Given the description of an element on the screen output the (x, y) to click on. 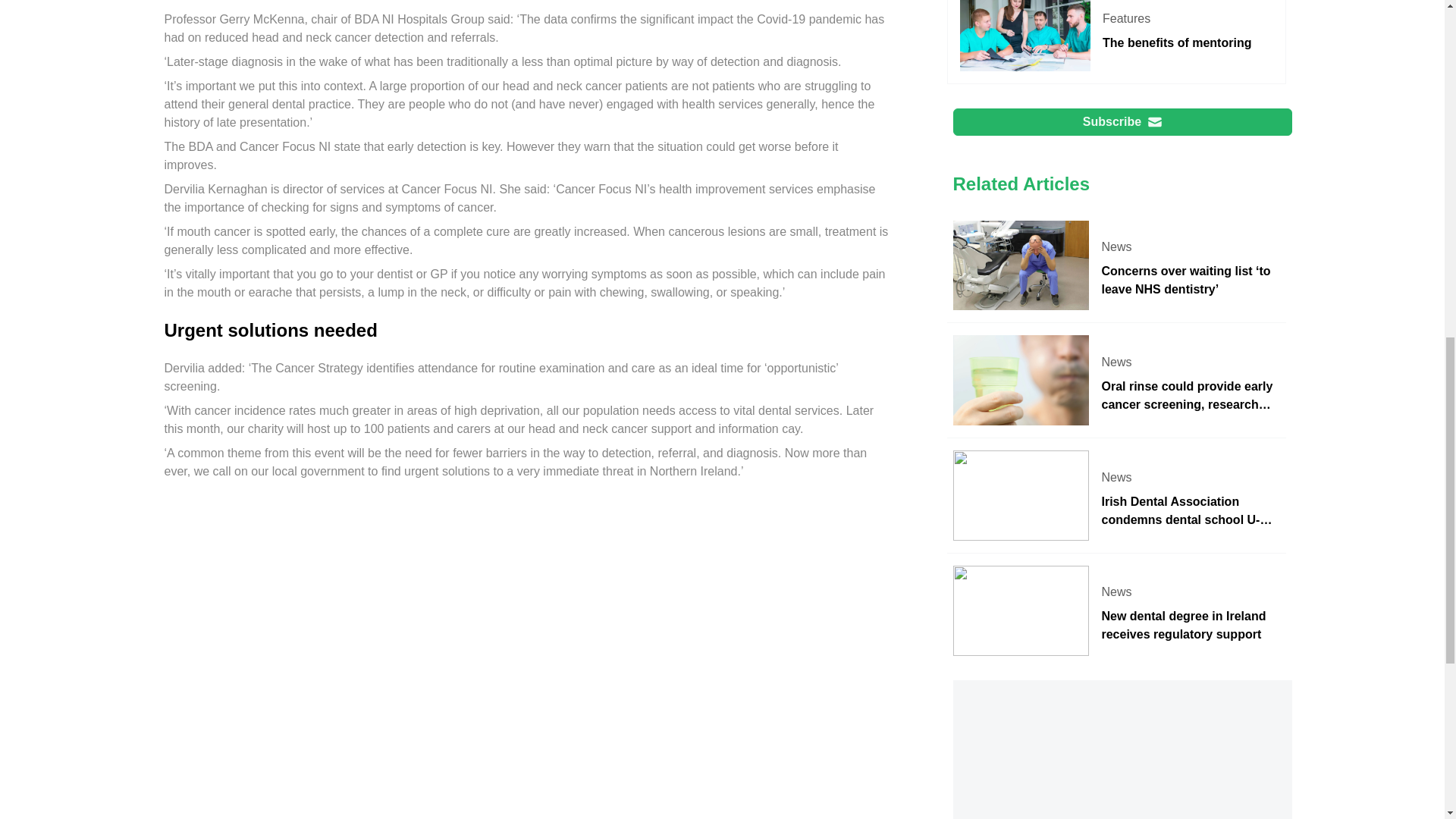
Subscribe (1116, 41)
